Given the description of an element on the screen output the (x, y) to click on. 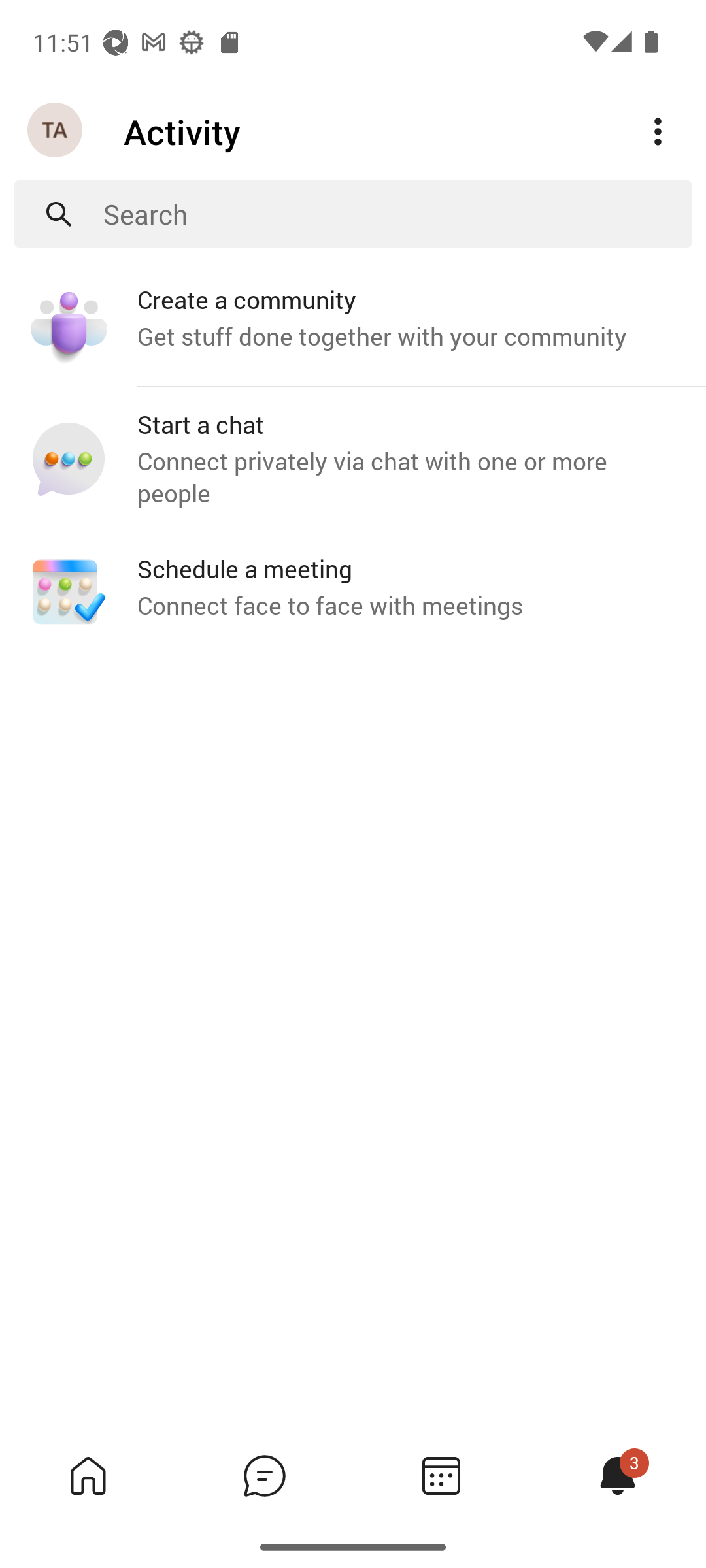
More options (657, 131)
Navigation (56, 130)
Search (397, 213)
Home tab,1 of 4, not selected (88, 1475)
Chat tab,2 of 4, not selected (264, 1475)
Calendar tab,3 of 4, not selected (441, 1475)
Activity tab, 4 of 4, 3 new 3 (617, 1475)
